Given the description of an element on the screen output the (x, y) to click on. 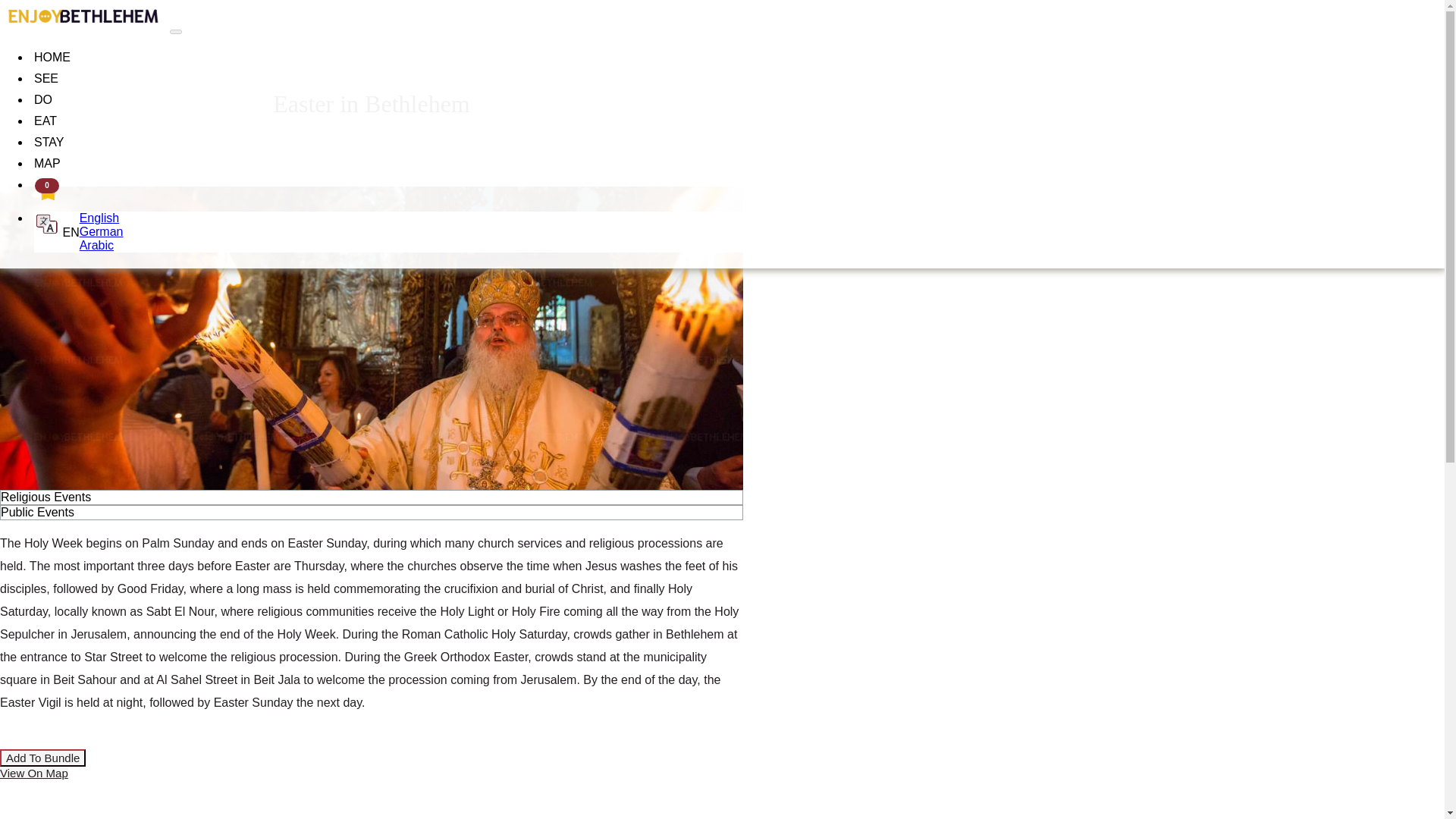
HOME (51, 58)
SEE (45, 79)
STAY (48, 142)
DO (42, 100)
EN (56, 225)
Add To Bundle (42, 757)
View On Map (34, 772)
German (101, 231)
EAT (44, 121)
English (99, 217)
Arabic (96, 245)
MAP (47, 164)
